Given the description of an element on the screen output the (x, y) to click on. 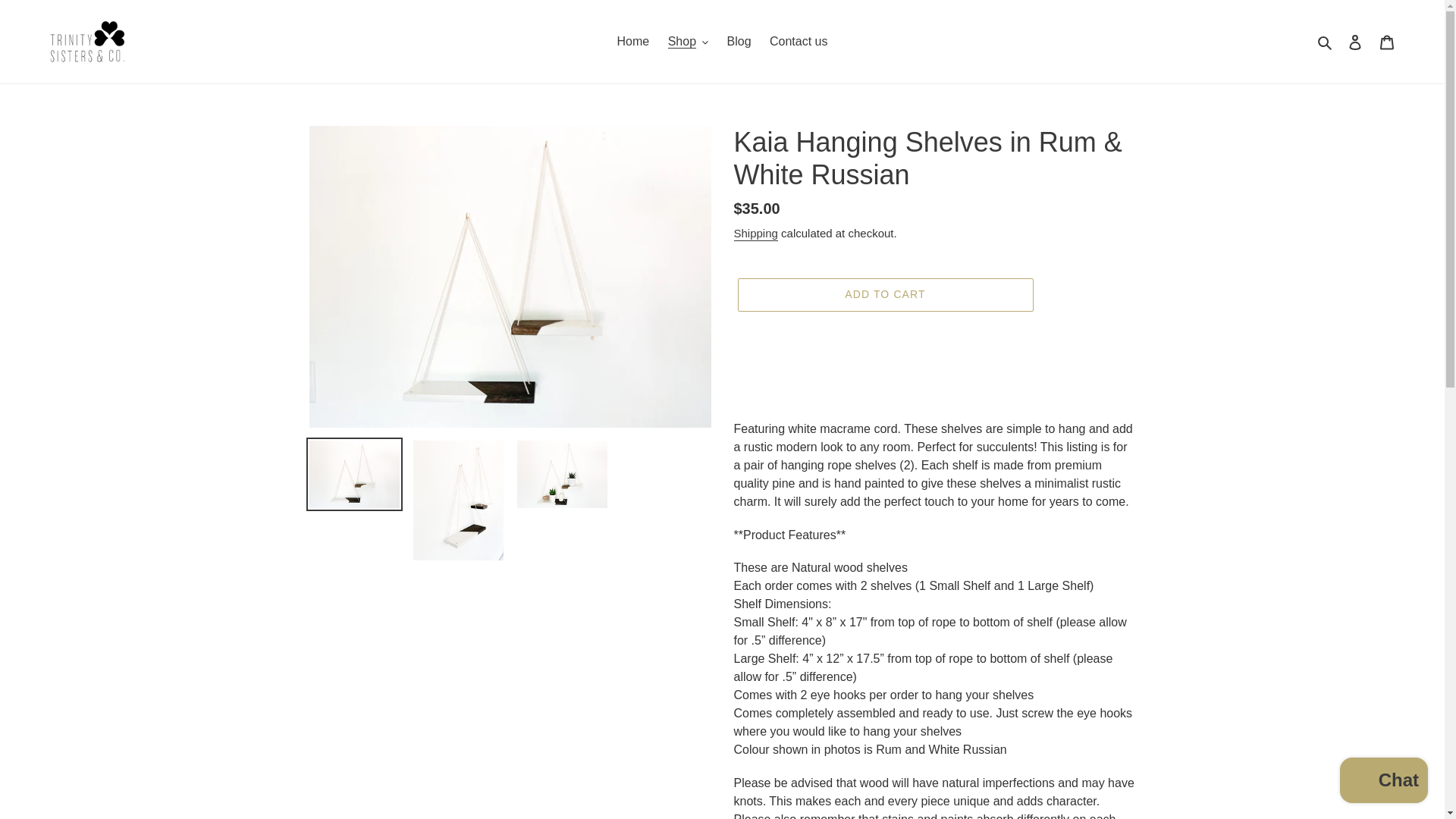
Shop (688, 41)
Shopify online store chat (1383, 781)
Log in (1355, 41)
Search (1326, 41)
Contact us (797, 41)
Home (634, 41)
Blog (738, 41)
Cart (1387, 41)
